Given the description of an element on the screen output the (x, y) to click on. 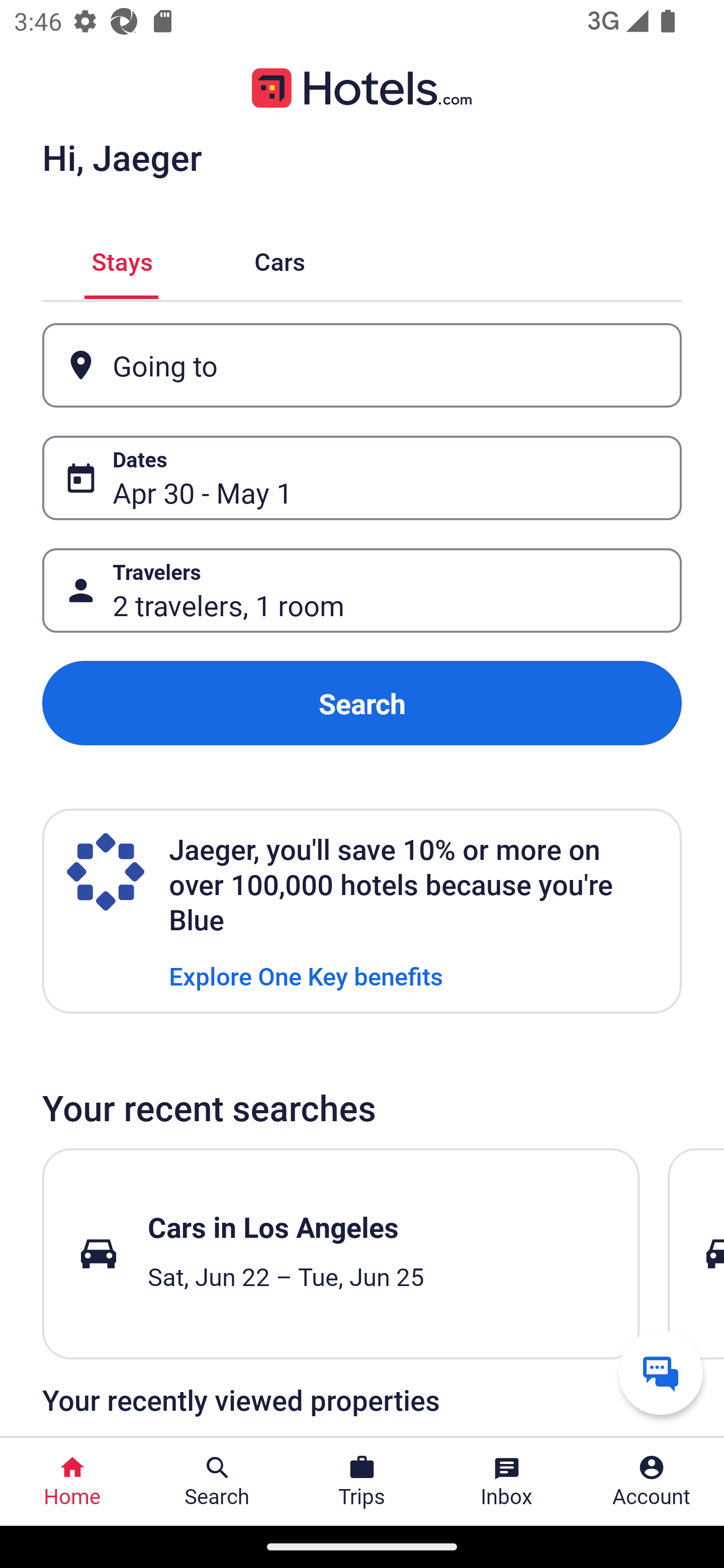
Hi, Jaeger (121, 156)
Cars (279, 259)
Going to Button (361, 365)
Dates Button Apr 30 - May 1 (361, 477)
Travelers Button 2 travelers, 1 room (361, 590)
Search (361, 702)
Get help from a virtual agent (660, 1371)
Search Search Button (216, 1481)
Trips Trips Button (361, 1481)
Inbox Inbox Button (506, 1481)
Account Profile. Button (651, 1481)
